Given the description of an element on the screen output the (x, y) to click on. 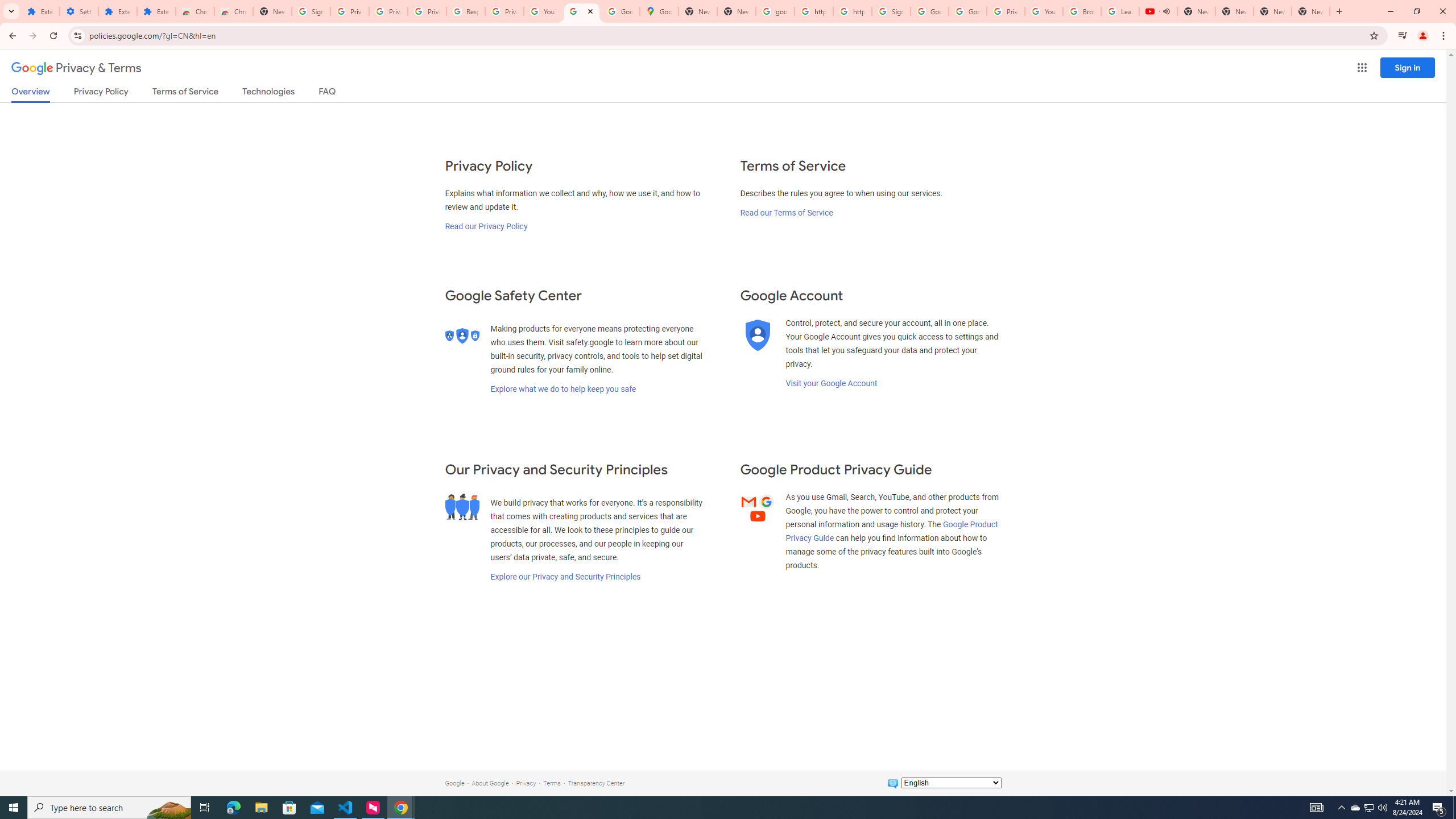
Extensions (40, 11)
Extensions (156, 11)
New Tab (1311, 11)
Mute tab (1165, 10)
